Given the description of an element on the screen output the (x, y) to click on. 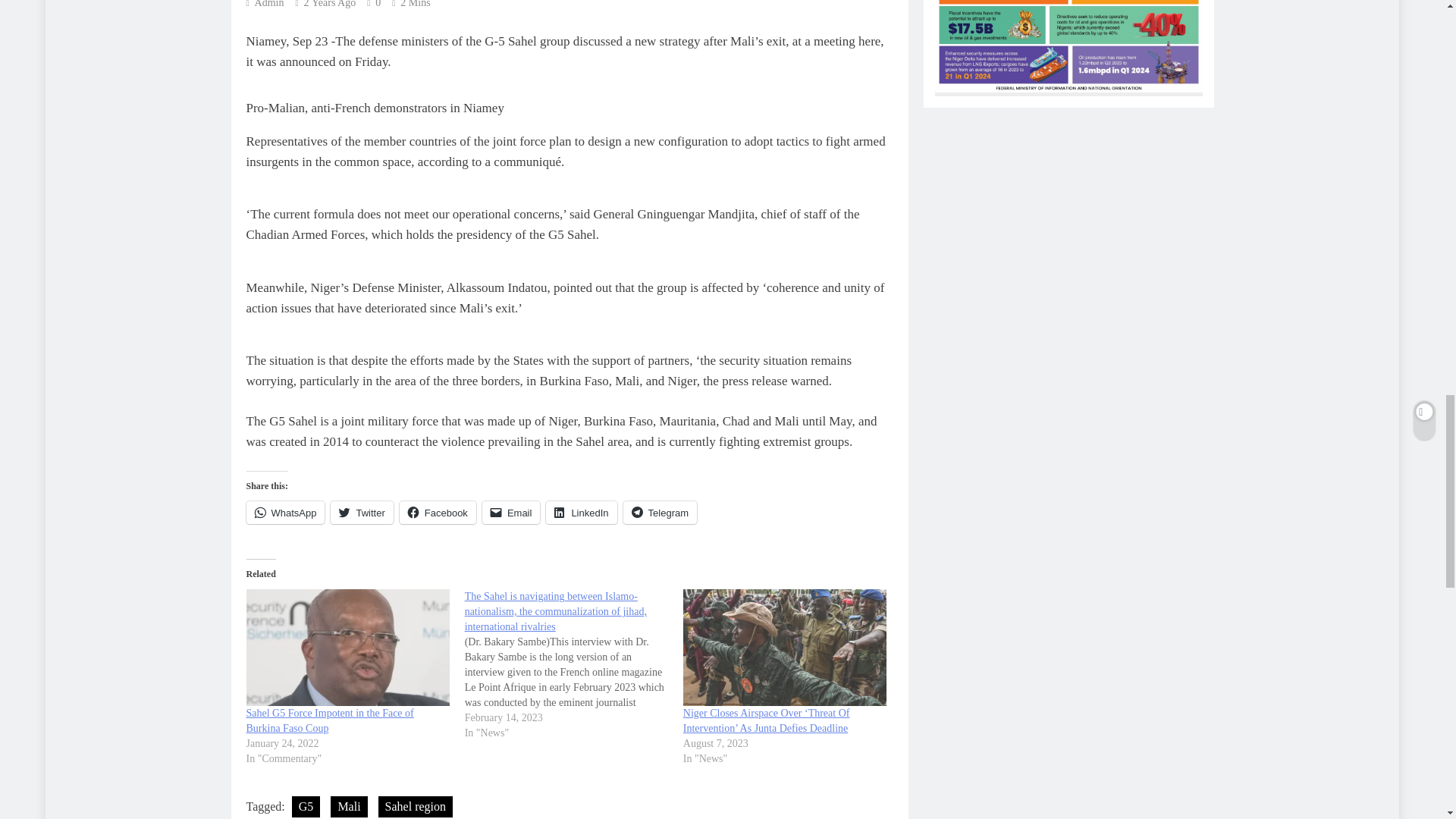
2 Years Ago (330, 4)
Twitter (361, 512)
Admin (264, 4)
WhatsApp (285, 512)
Click to share on WhatsApp (285, 512)
Facebook (437, 512)
Email (510, 512)
